Given the description of an element on the screen output the (x, y) to click on. 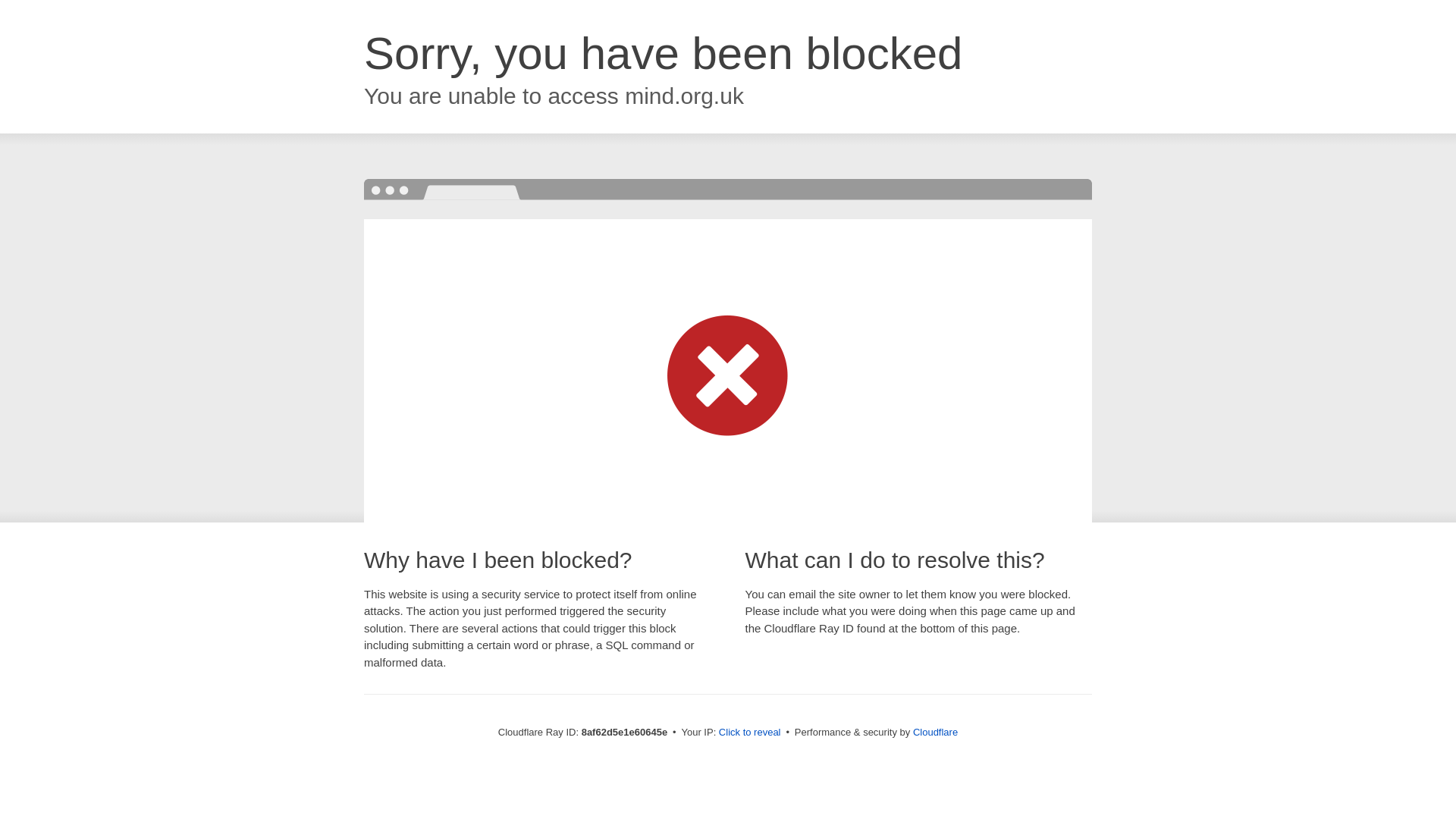
Cloudflare (935, 731)
Click to reveal (749, 732)
